Given the description of an element on the screen output the (x, y) to click on. 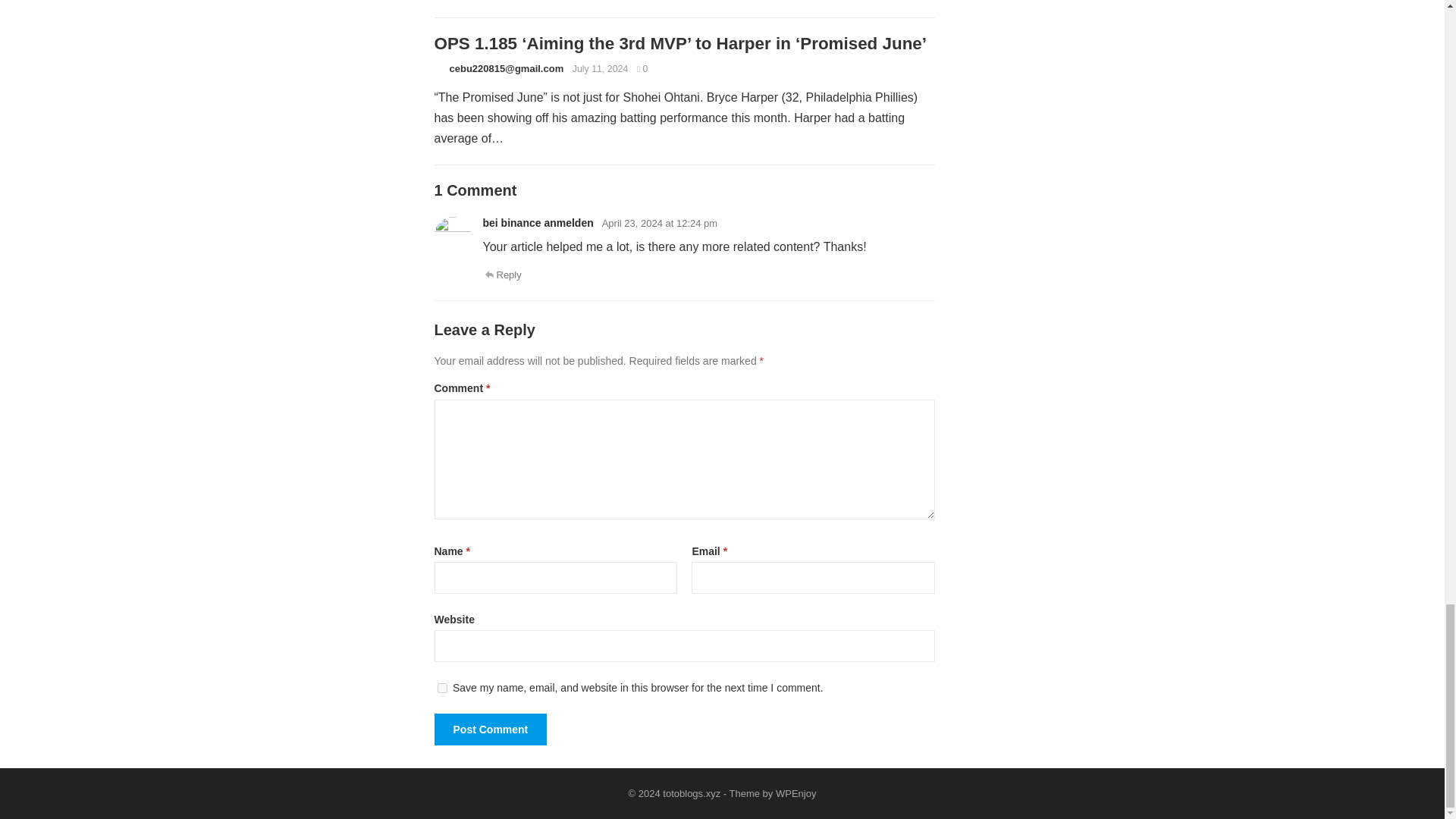
Post Comment (490, 729)
yes (441, 687)
